Given the description of an element on the screen output the (x, y) to click on. 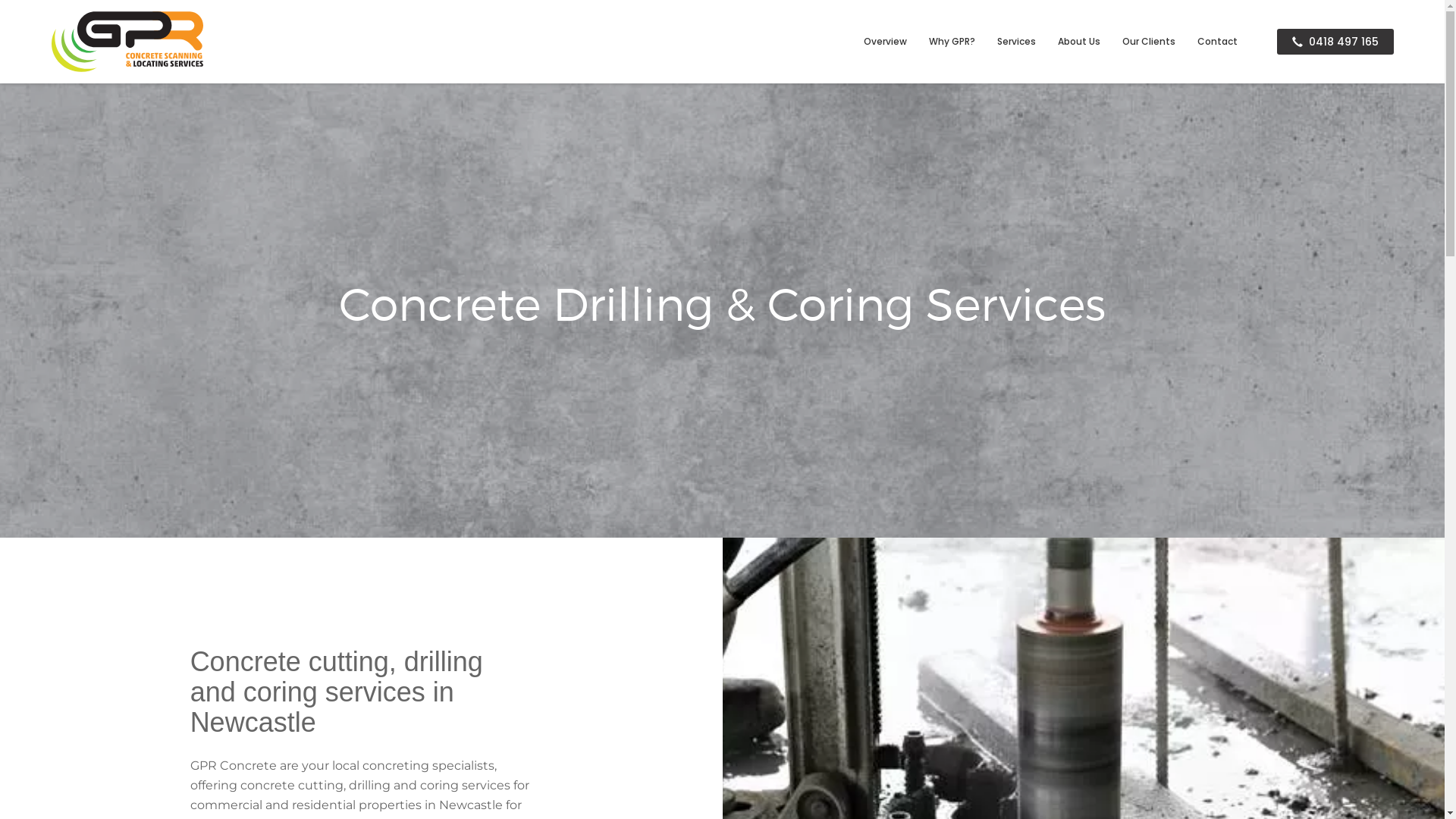
About Us Element type: text (1078, 41)
0418 497 165 Element type: text (1335, 41)
Why GPR? Element type: text (951, 41)
Our Clients Element type: text (1148, 41)
Services Element type: text (1015, 41)
Contact Element type: text (1216, 41)
Overview Element type: text (884, 41)
